Given the description of an element on the screen output the (x, y) to click on. 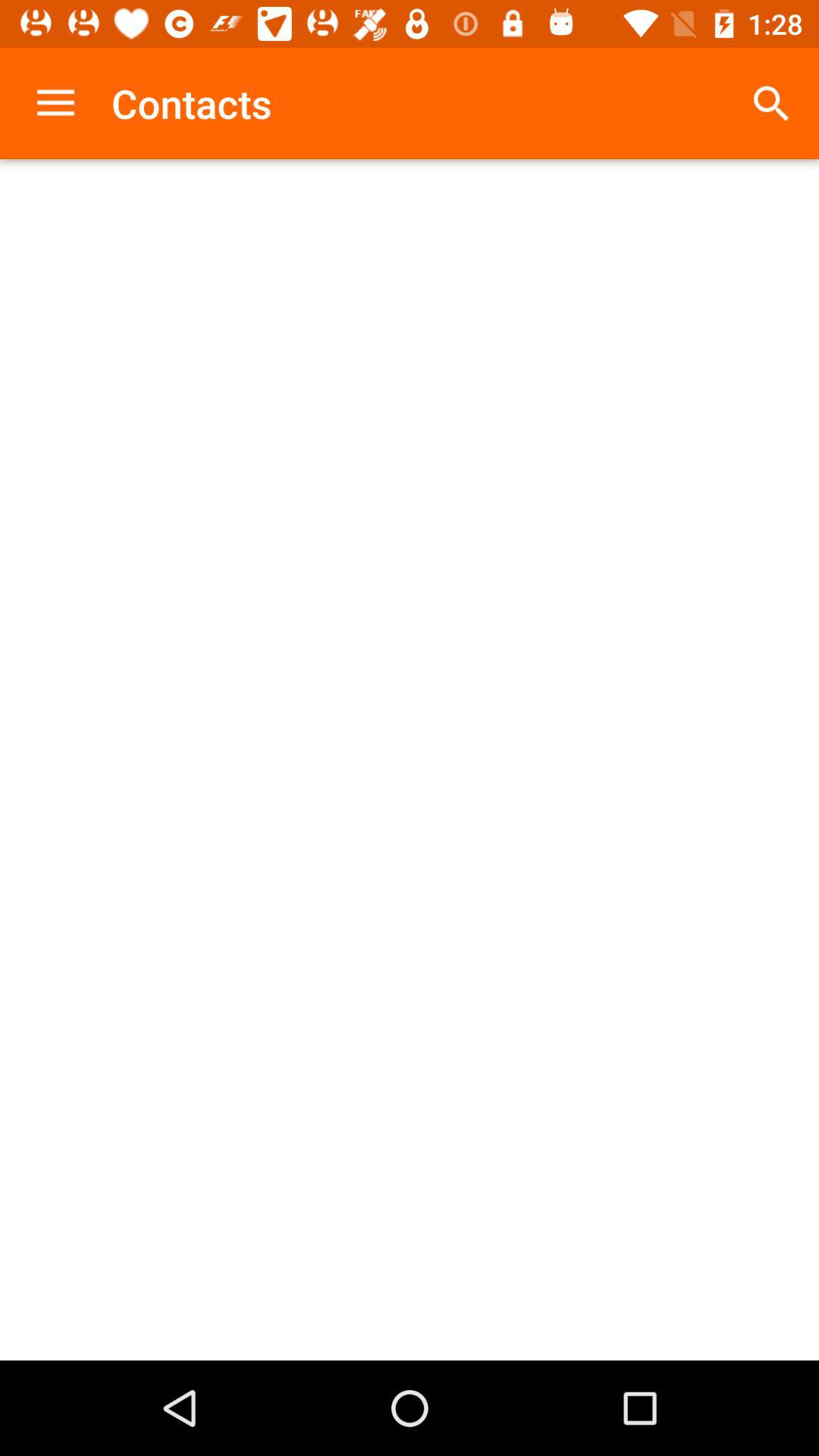
press the icon next to the contacts app (55, 103)
